Given the description of an element on the screen output the (x, y) to click on. 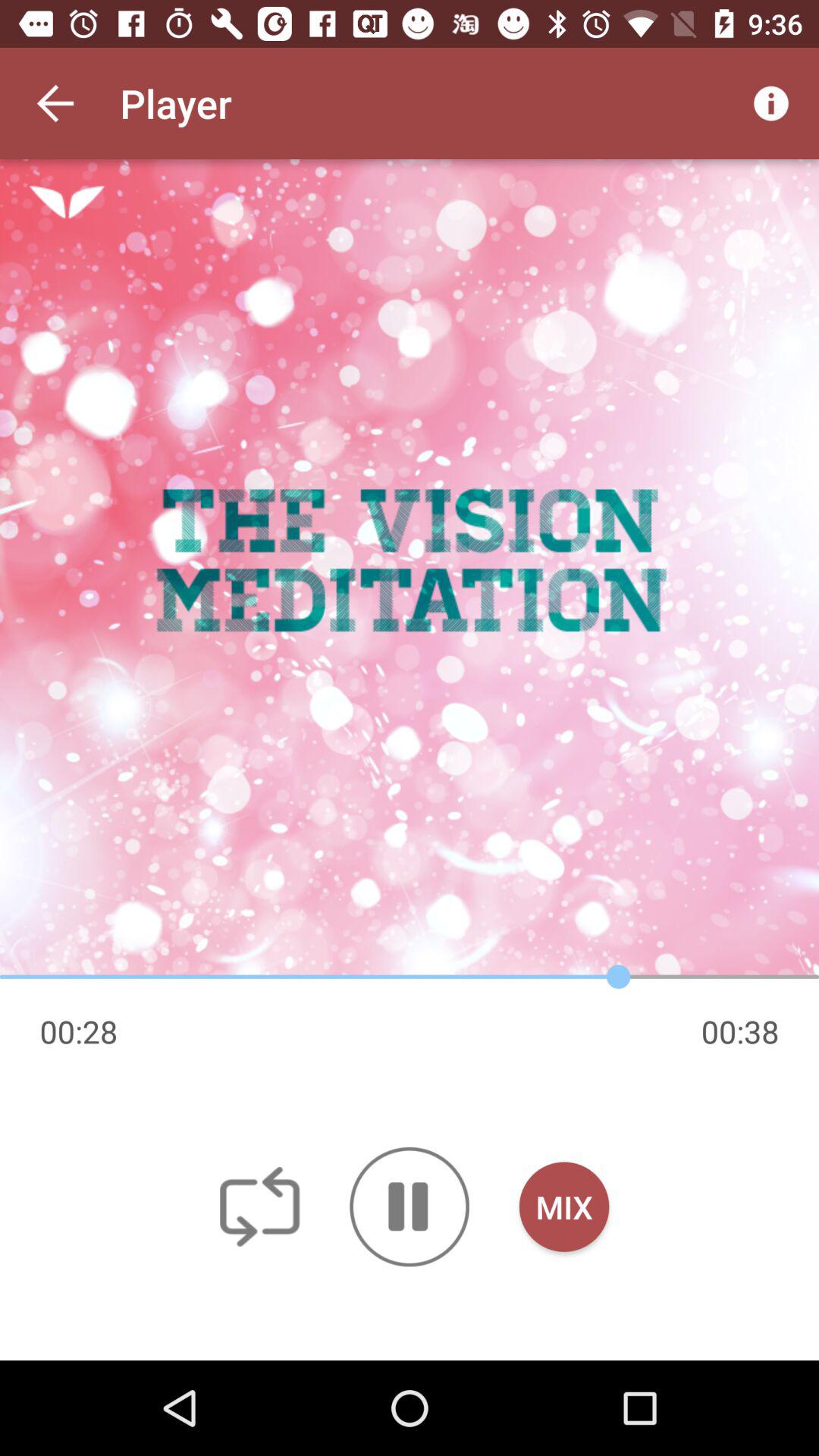
select the icon next to off item (409, 1206)
